Given the description of an element on the screen output the (x, y) to click on. 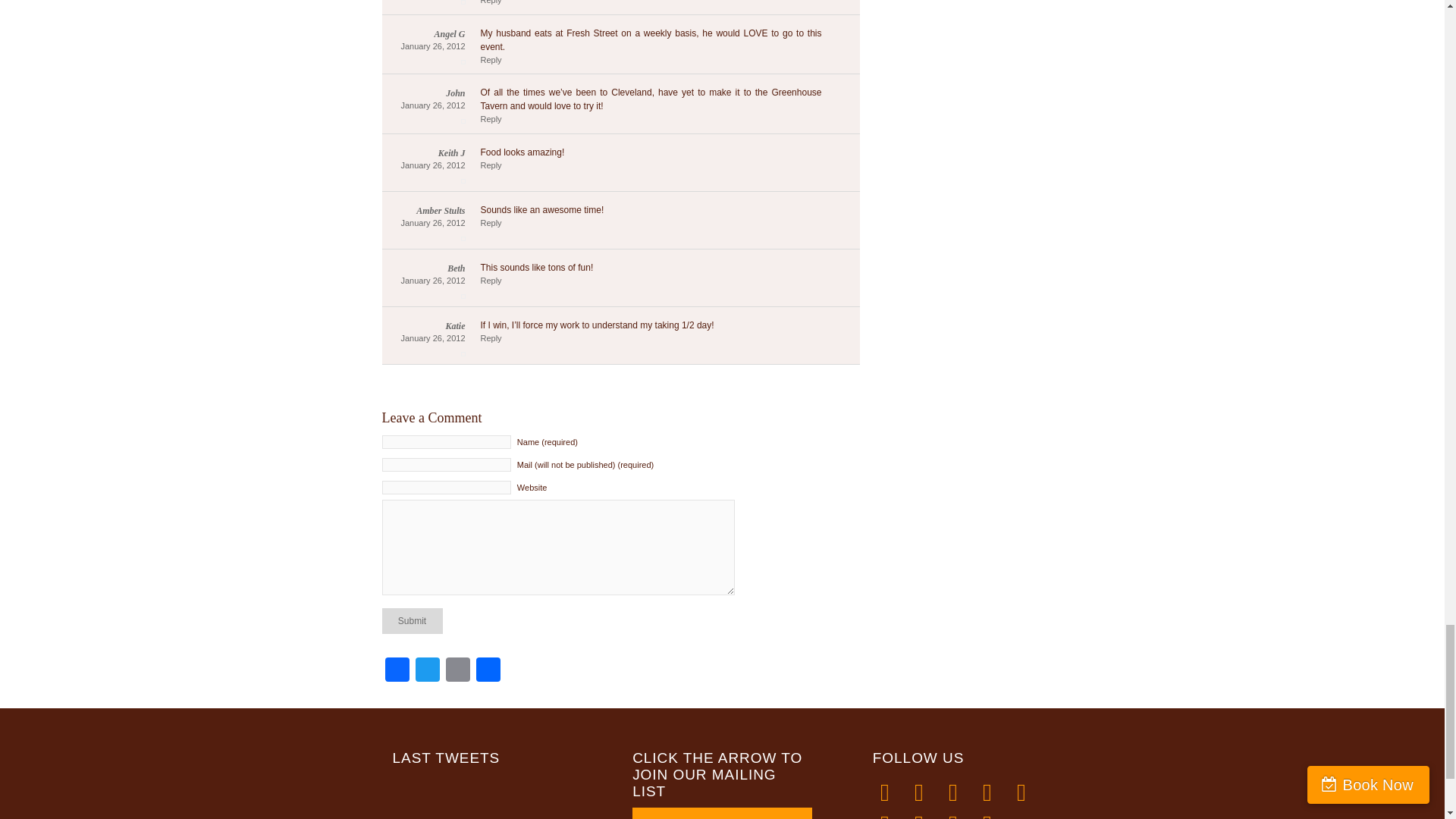
Submit (411, 620)
Twitter (427, 670)
Facebook (396, 670)
Email (457, 670)
